Given the description of an element on the screen output the (x, y) to click on. 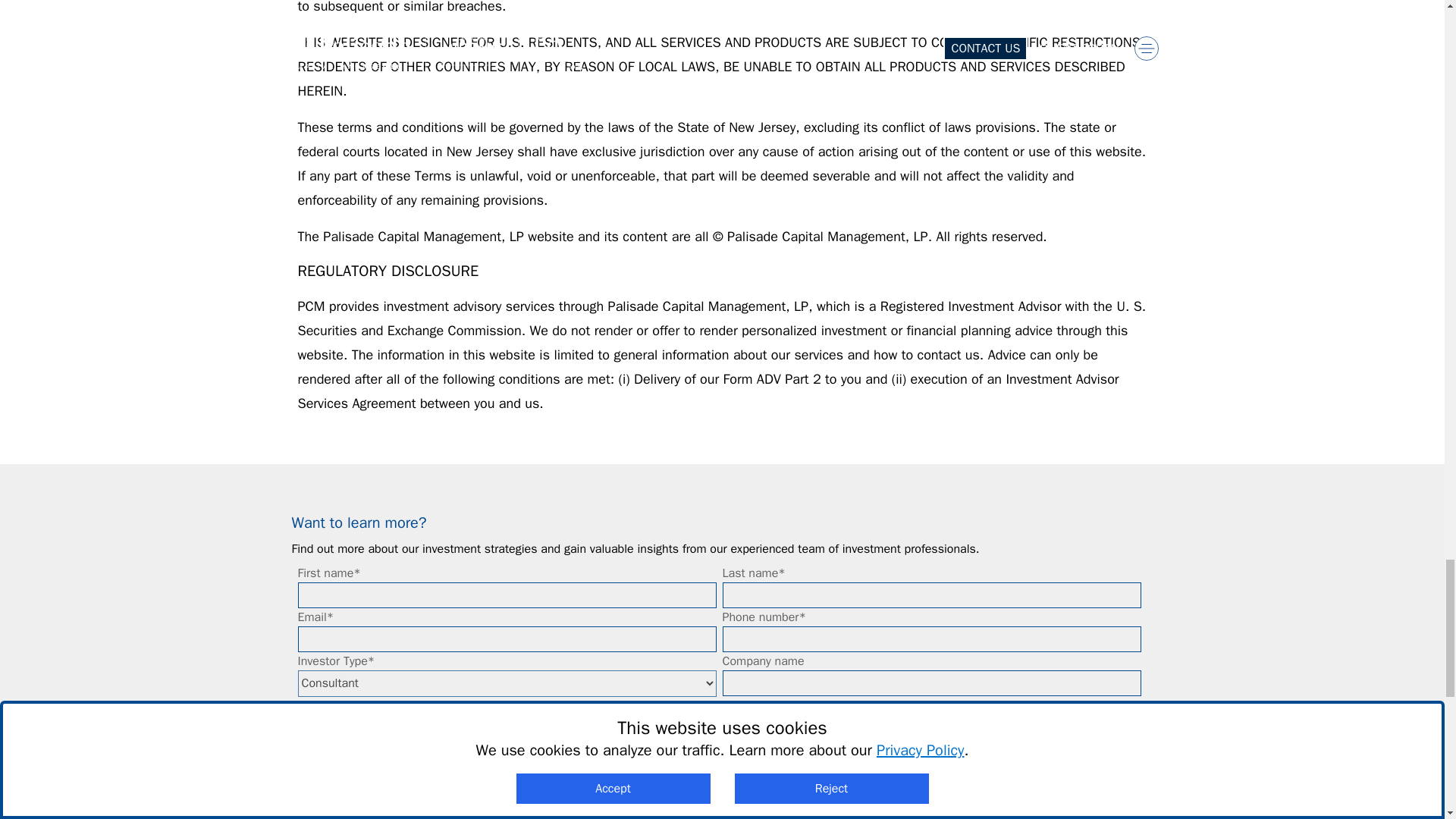
Submit (721, 721)
Submit (721, 721)
